Given the description of an element on the screen output the (x, y) to click on. 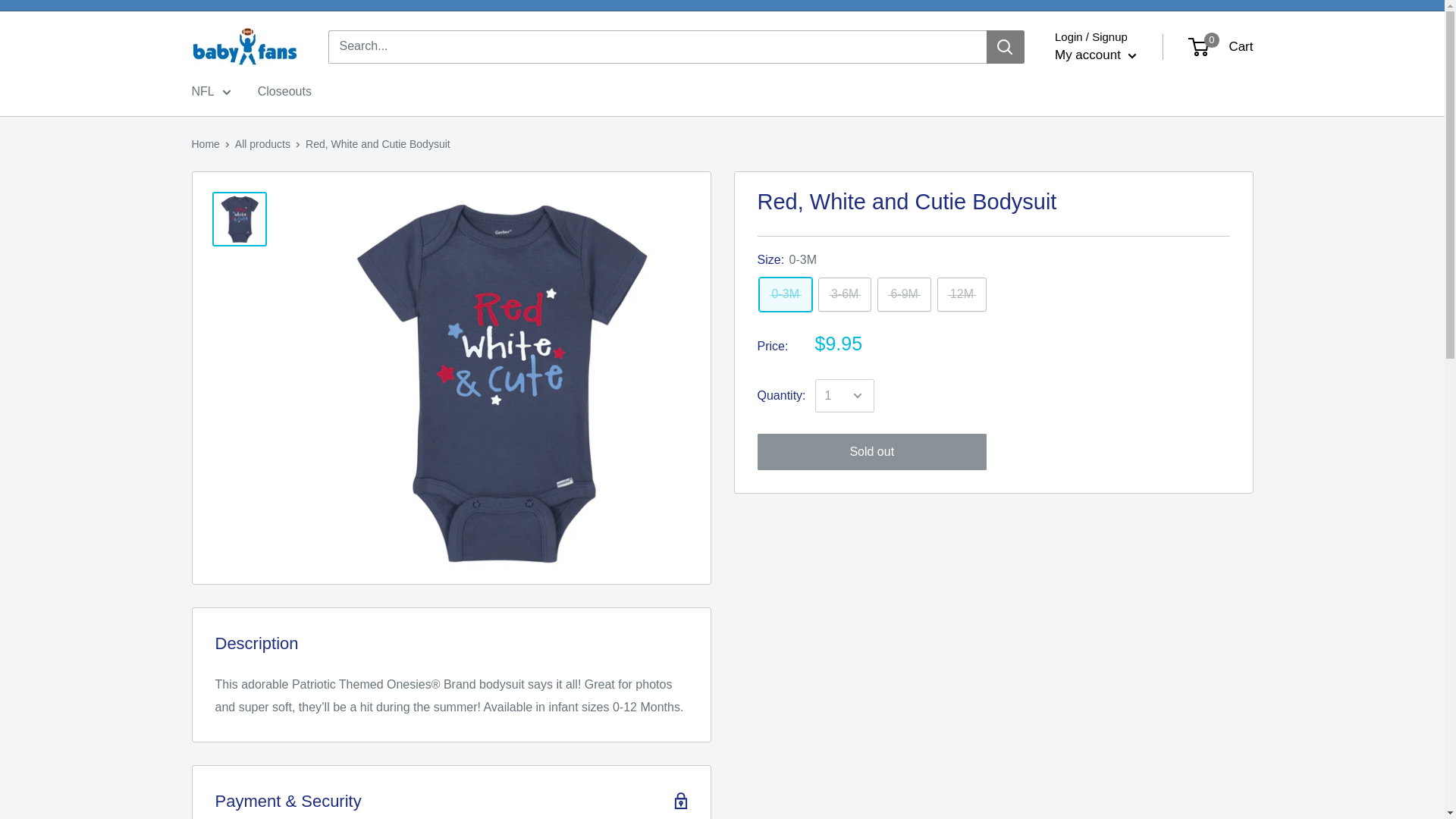
6-9M (903, 294)
3-6M (844, 294)
12M (962, 294)
0-3M (784, 294)
